Given the description of an element on the screen output the (x, y) to click on. 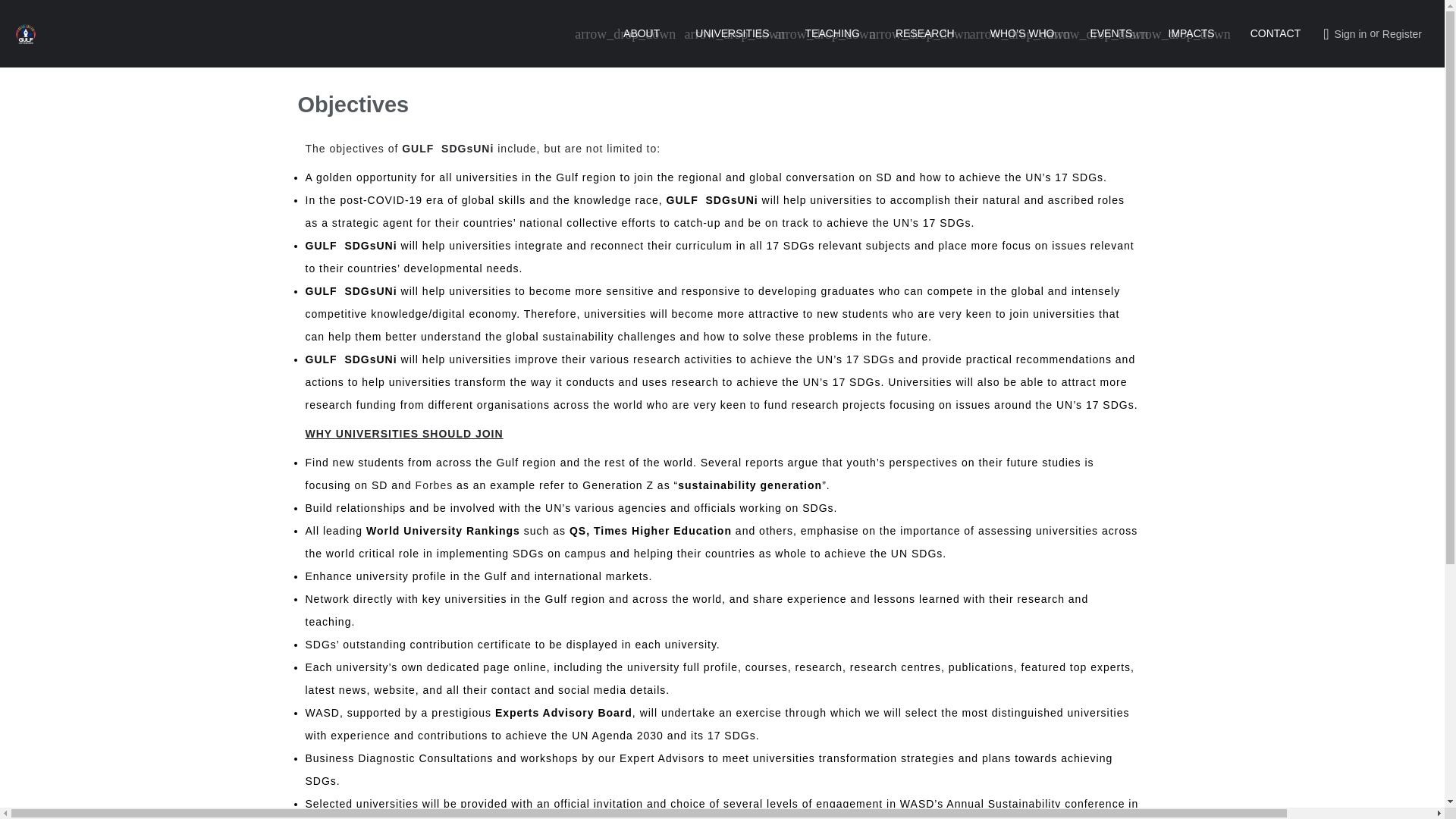
ABOUT (641, 32)
